Given the description of an element on the screen output the (x, y) to click on. 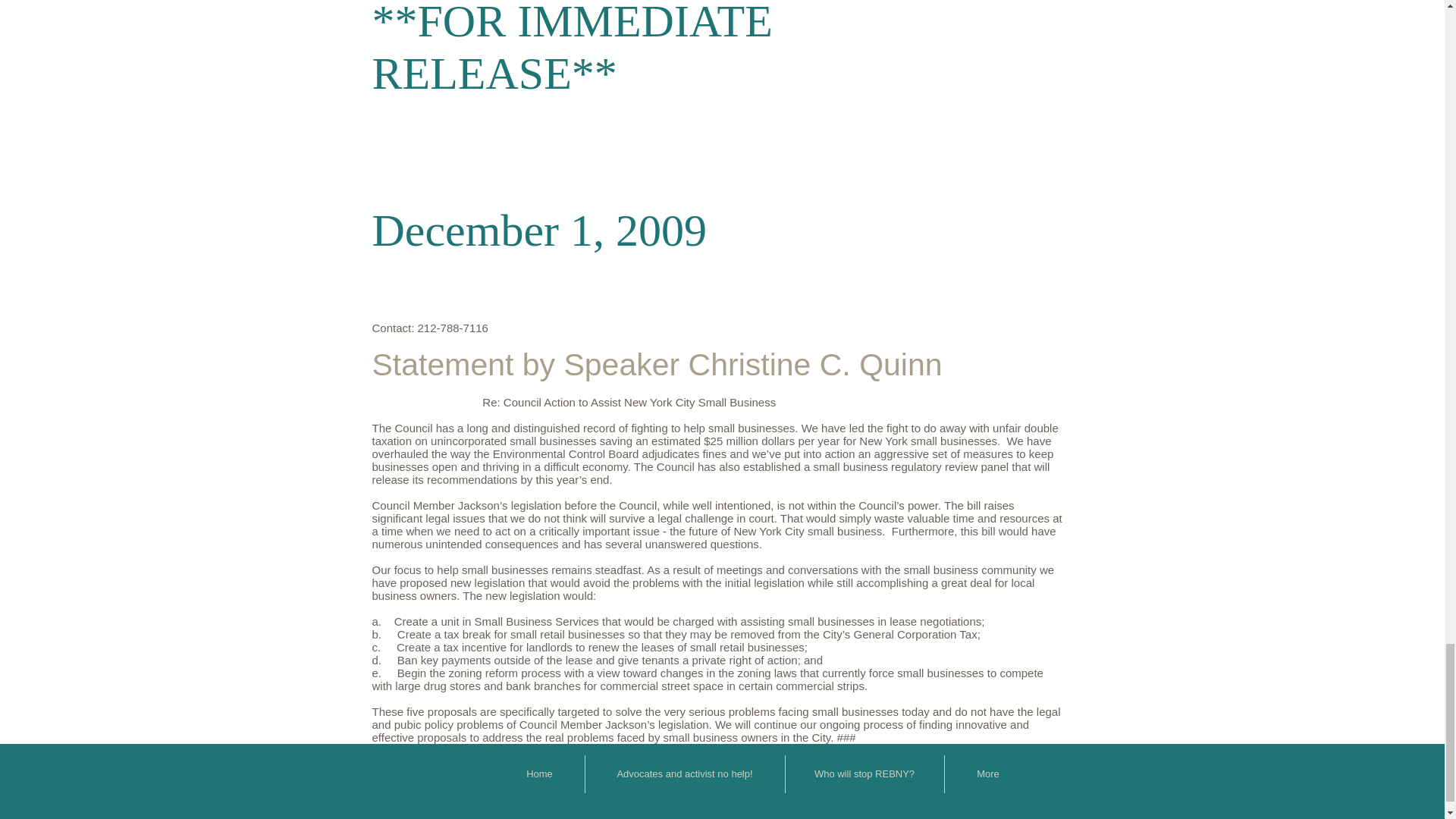
Who will stop REBNY? (864, 774)
Advocates and activist no help! (684, 774)
Home (539, 774)
